Given the description of an element on the screen output the (x, y) to click on. 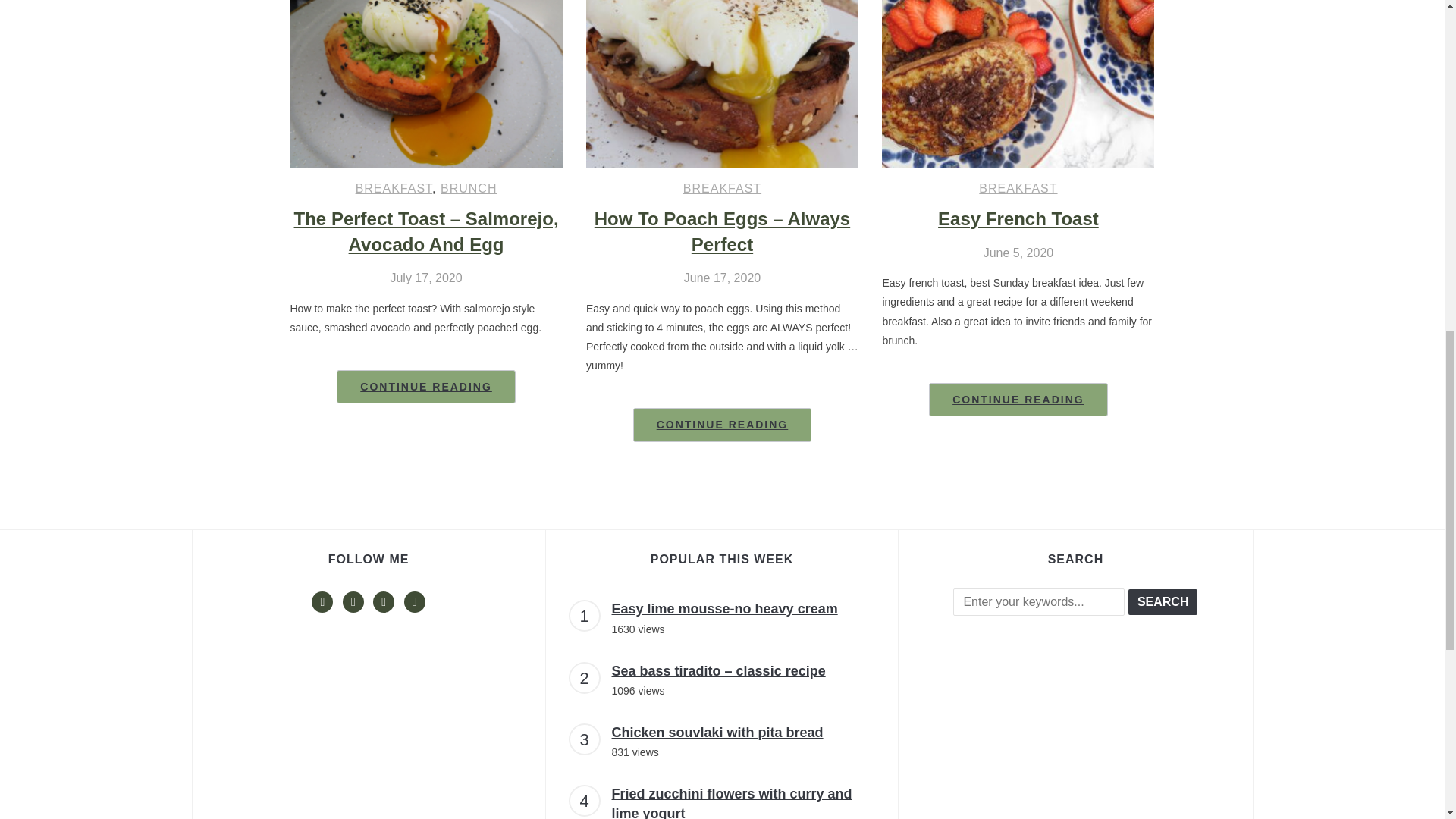
Search (1163, 601)
Permalink to Easy French Toast (1018, 399)
Search (1163, 601)
